Given the description of an element on the screen output the (x, y) to click on. 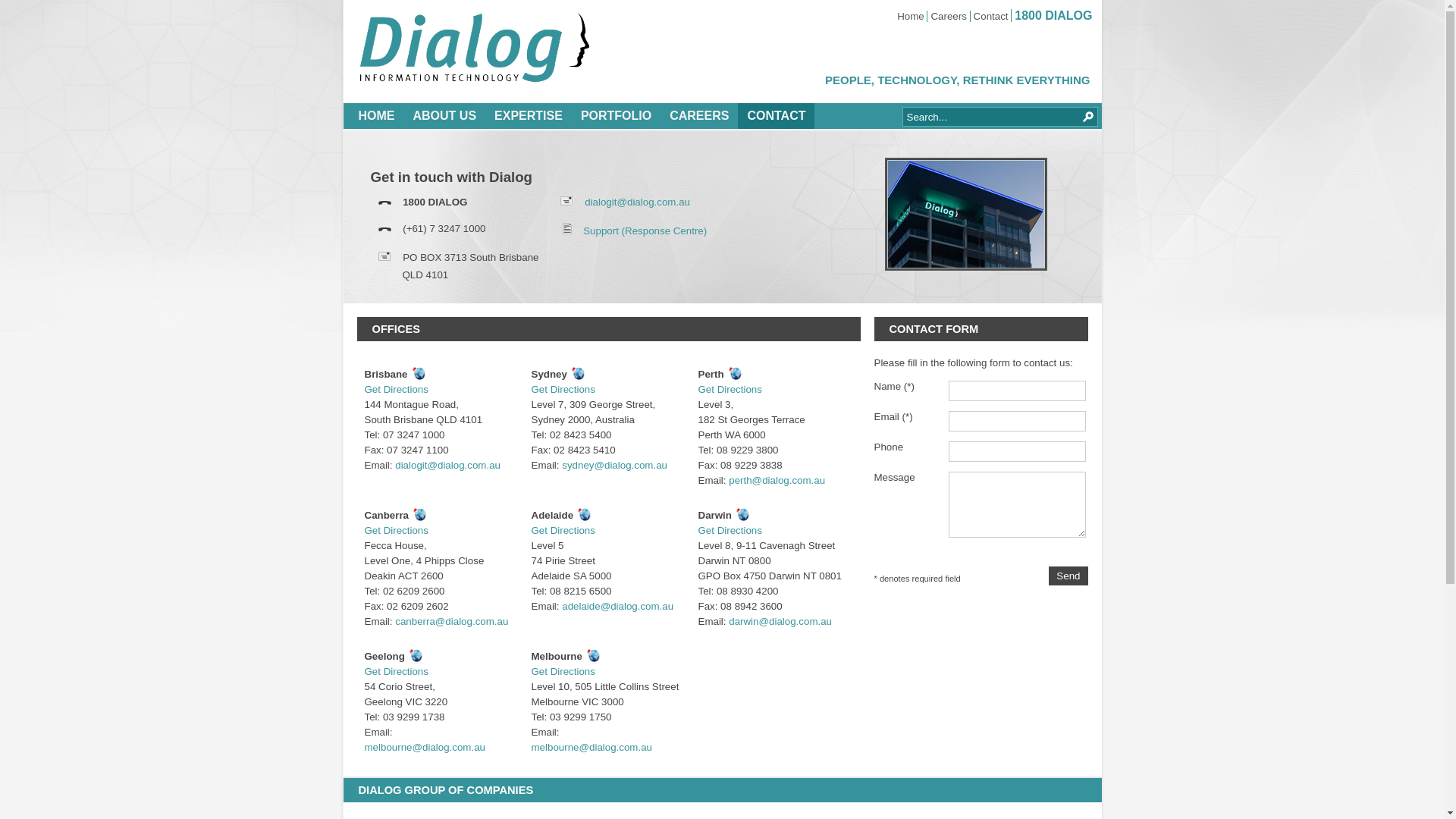
Get Directions Element type: text (562, 389)
Home Element type: text (910, 15)
canberra@dialog.com.au Element type: text (451, 621)
melbourne@dialog.com.au Element type: text (591, 747)
EXPERTISE Element type: text (528, 115)
HOME Element type: text (375, 115)
perth@dialog.com.au Element type: text (776, 480)
ABOUT US Element type: text (444, 115)
dialogit@dialog.com.au Element type: text (447, 464)
CONTACT Element type: text (775, 115)
melbourne@dialog.com.au Element type: text (424, 747)
sydney@dialog.com.au Element type: text (614, 464)
Get Directions Element type: text (562, 530)
Careers Element type: text (948, 15)
Contact Element type: text (990, 15)
Get Directions Element type: text (395, 671)
Get Directions Element type: text (395, 530)
Get Directions Element type: text (562, 671)
Send Element type: text (1067, 575)
dialogit@dialog.com.au Element type: text (637, 201)
PORTFOLIO Element type: text (615, 115)
Support (Response Centre) Element type: text (644, 229)
Get Directions Element type: text (729, 530)
adelaide@dialog.com.au Element type: text (617, 605)
CAREERS Element type: text (698, 115)
Get Directions Element type: text (395, 389)
darwin@dialog.com.au Element type: text (779, 621)
Get Directions Element type: text (729, 389)
